Given the description of an element on the screen output the (x, y) to click on. 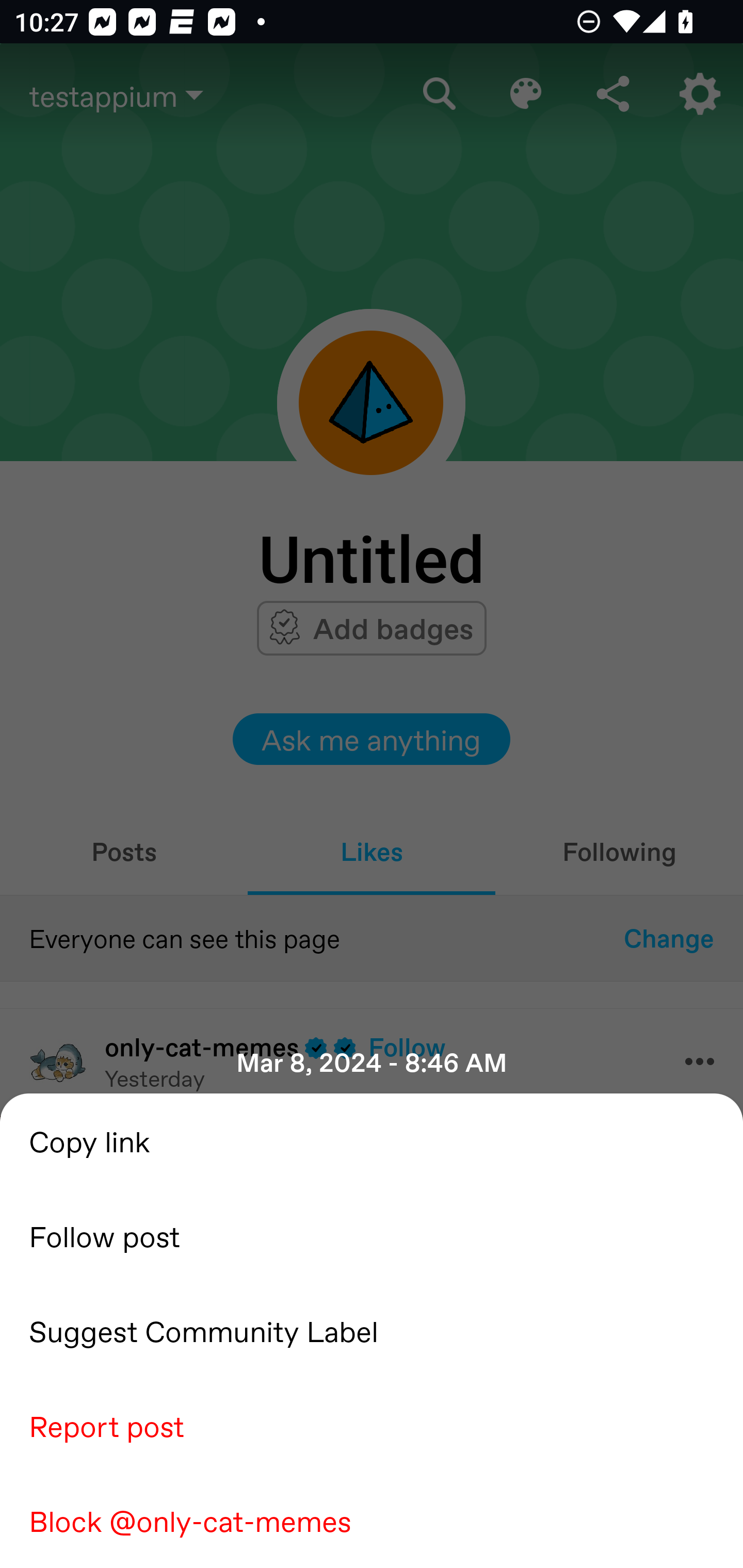
Copy link (371, 1140)
Follow post (371, 1235)
Suggest Community Label (371, 1330)
Report post (371, 1425)
Block @only-cat-memes (371, 1520)
